Given the description of an element on the screen output the (x, y) to click on. 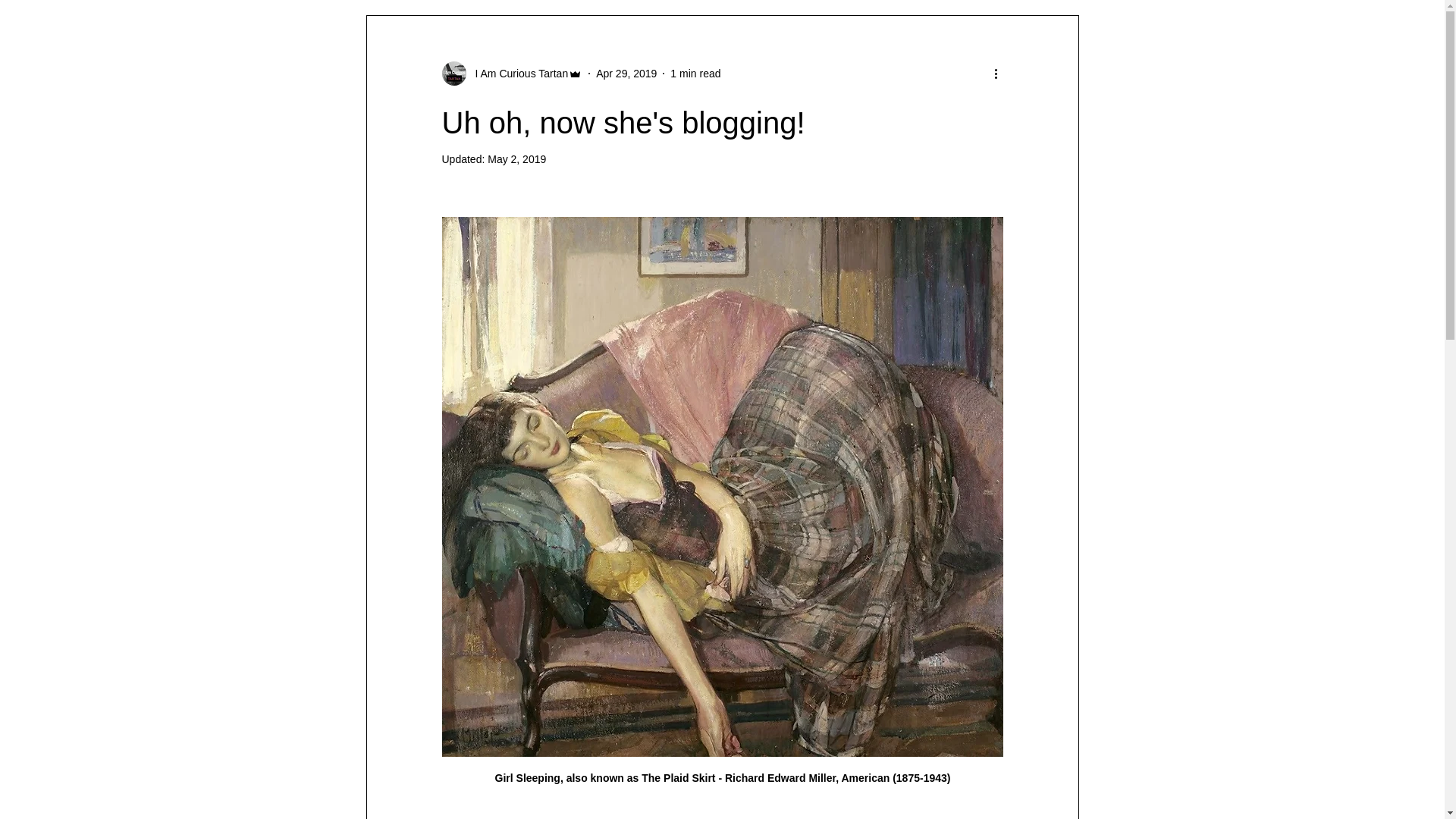
Apr 28, 2019 (625, 72)
1 min read (694, 72)
May 1, 2019 (516, 159)
I Am Curious Tartan (516, 73)
